Given the description of an element on the screen output the (x, y) to click on. 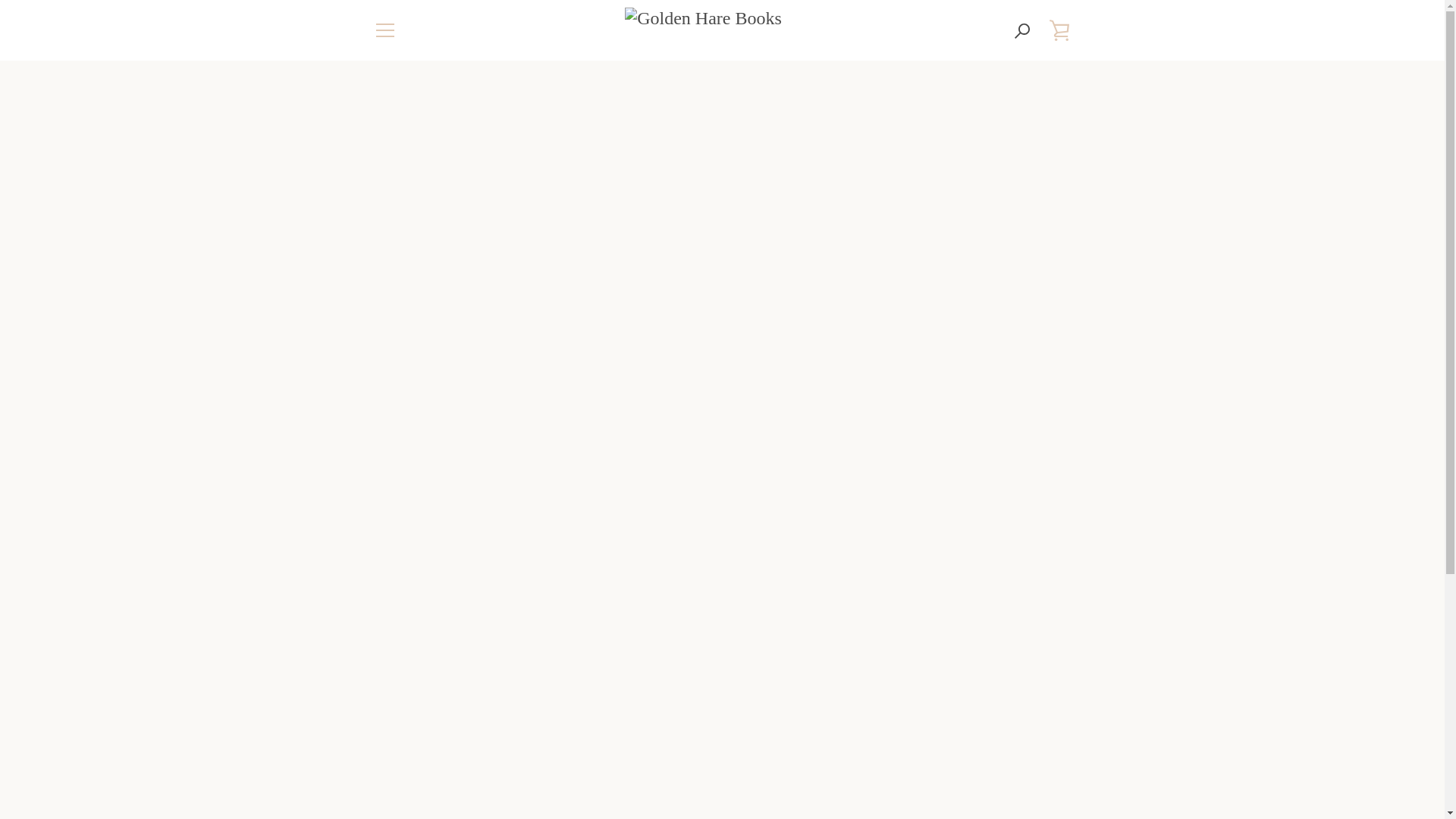
MENU (384, 30)
